Given the description of an element on the screen output the (x, y) to click on. 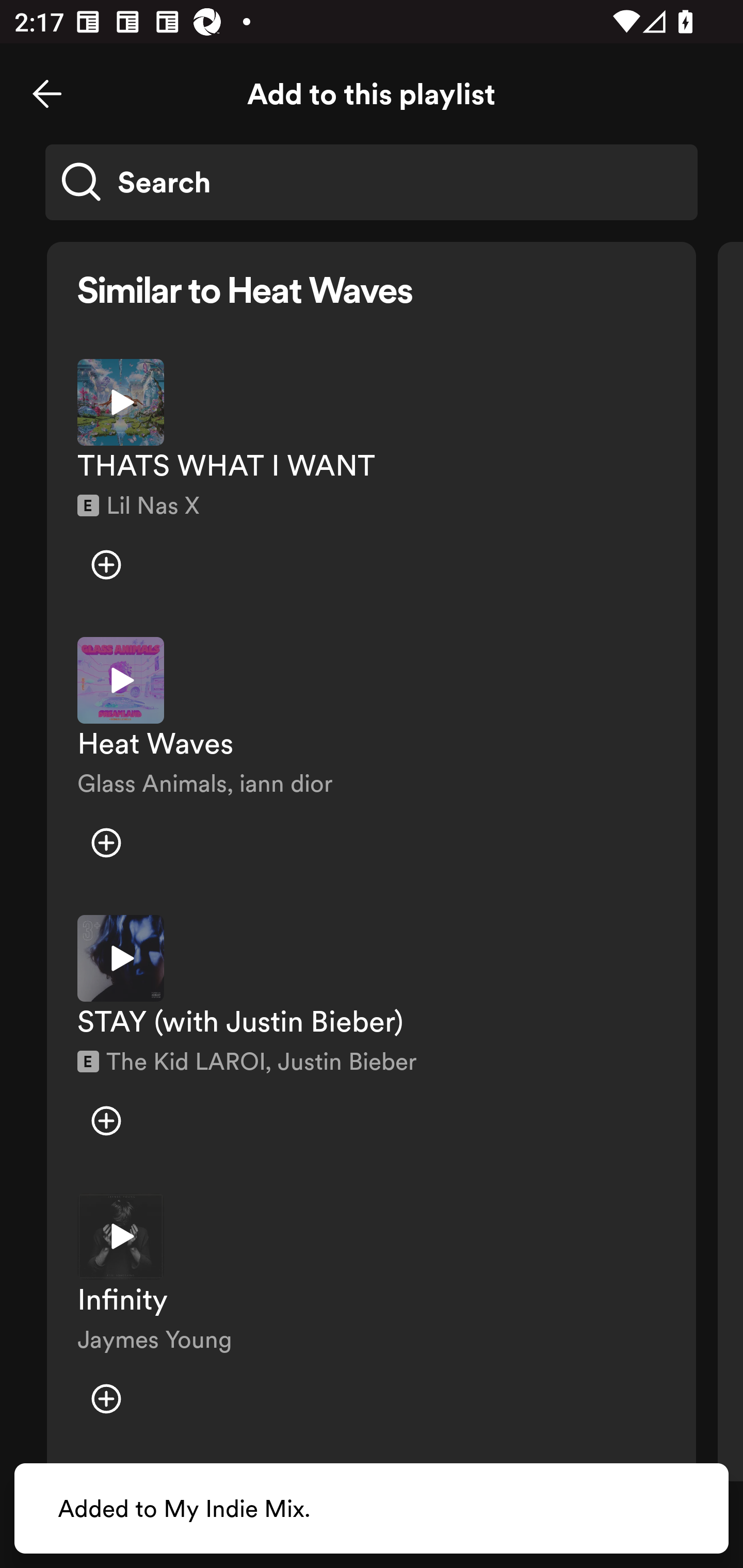
Close (46, 93)
Search (371, 181)
Play preview (120, 402)
Add item (106, 565)
Play preview (120, 680)
Add item (106, 842)
Play preview (120, 958)
Add item (106, 1120)
Play preview Infinity Jaymes Young Add item (371, 1317)
Play preview (120, 1236)
Add item (106, 1398)
